Given the description of an element on the screen output the (x, y) to click on. 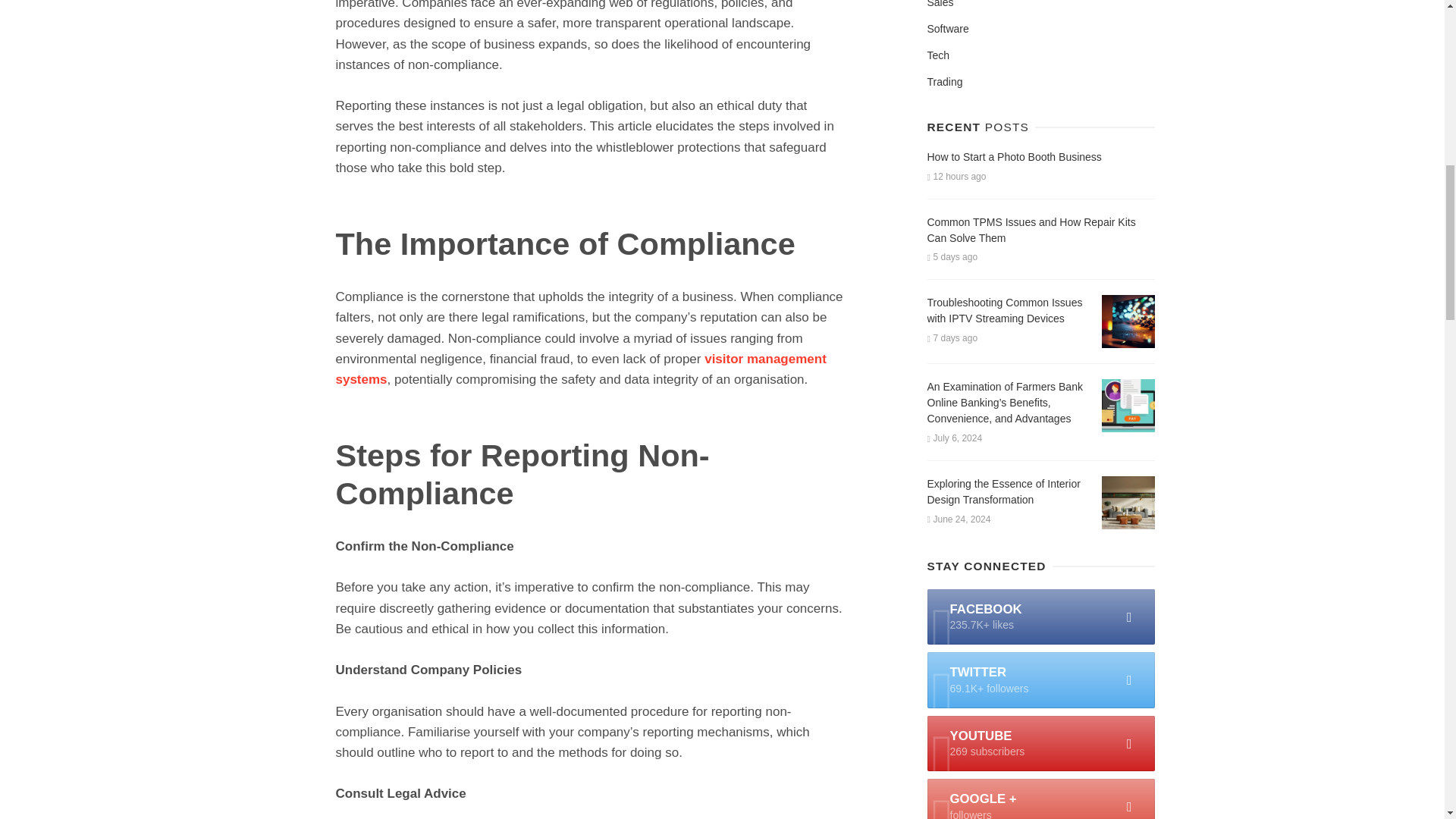
visitor management systems (579, 369)
